Given the description of an element on the screen output the (x, y) to click on. 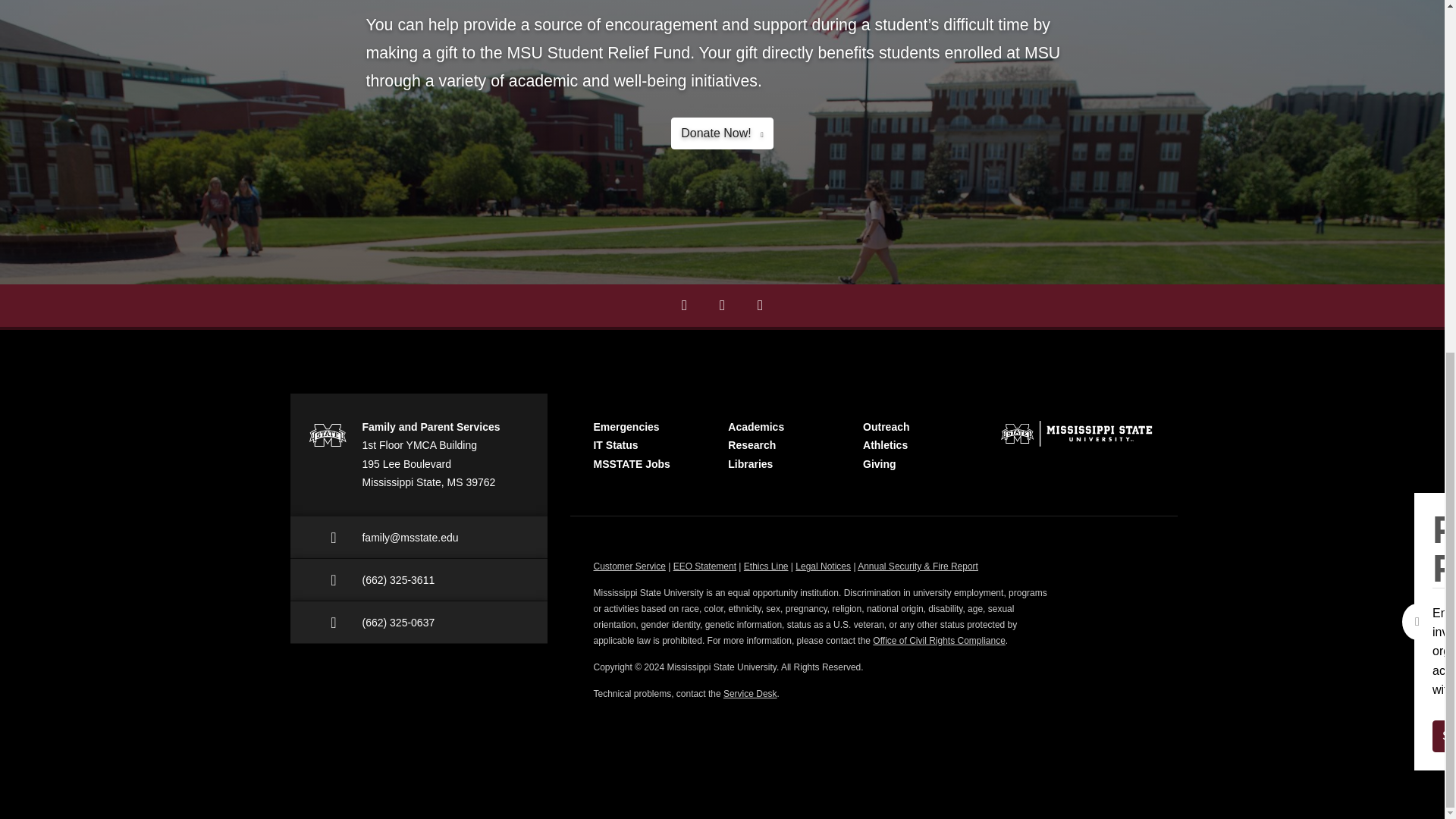
Find Office of Parent and Family Services on Facebook (684, 305)
Mississippi State University (326, 434)
Find Office of Parent and Family Services on X Twitter (759, 305)
Mississippi State University (1075, 432)
Find Office of Parent and Family Services on Instagram (722, 305)
